Given the description of an element on the screen output the (x, y) to click on. 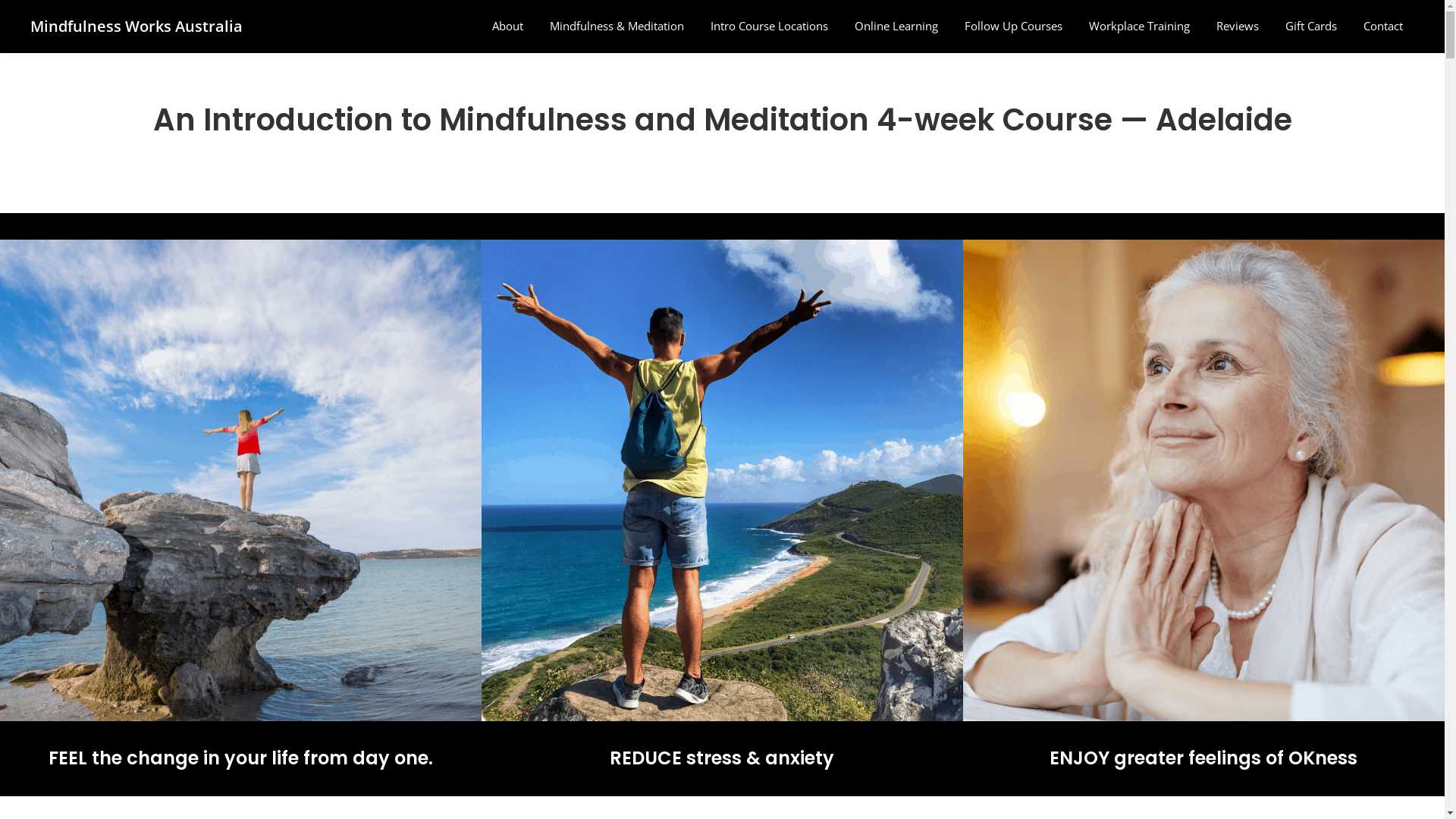
Intro Course Locations Element type: text (769, 25)
Follow Up Courses Element type: text (1013, 25)
Workplace Training Element type: text (1139, 25)
Mindfulness & Meditation Element type: text (616, 25)
Online Learning Element type: text (896, 25)
Mindfulness Works Australia Element type: text (136, 25)
wise woman Element type: hover (1203, 480)
About Element type: text (507, 25)
3 Element type: hover (722, 480)
Gift Cards Element type: text (1311, 25)
Skip to primary navigation Element type: text (0, 0)
8 Element type: hover (240, 480)
Reviews Element type: text (1237, 25)
Contact Element type: text (1383, 25)
